Given the description of an element on the screen output the (x, y) to click on. 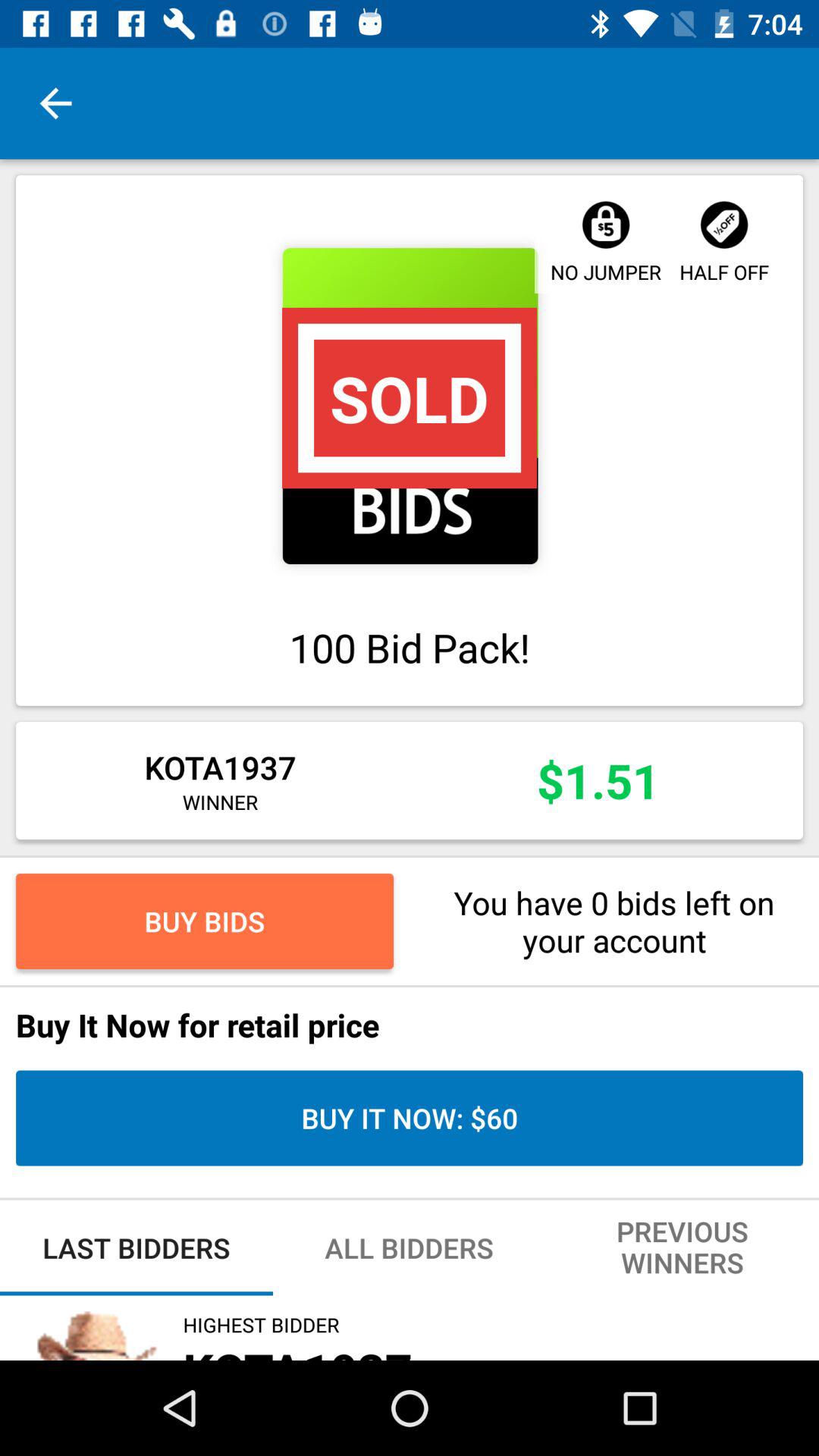
product page (409, 406)
